Given the description of an element on the screen output the (x, y) to click on. 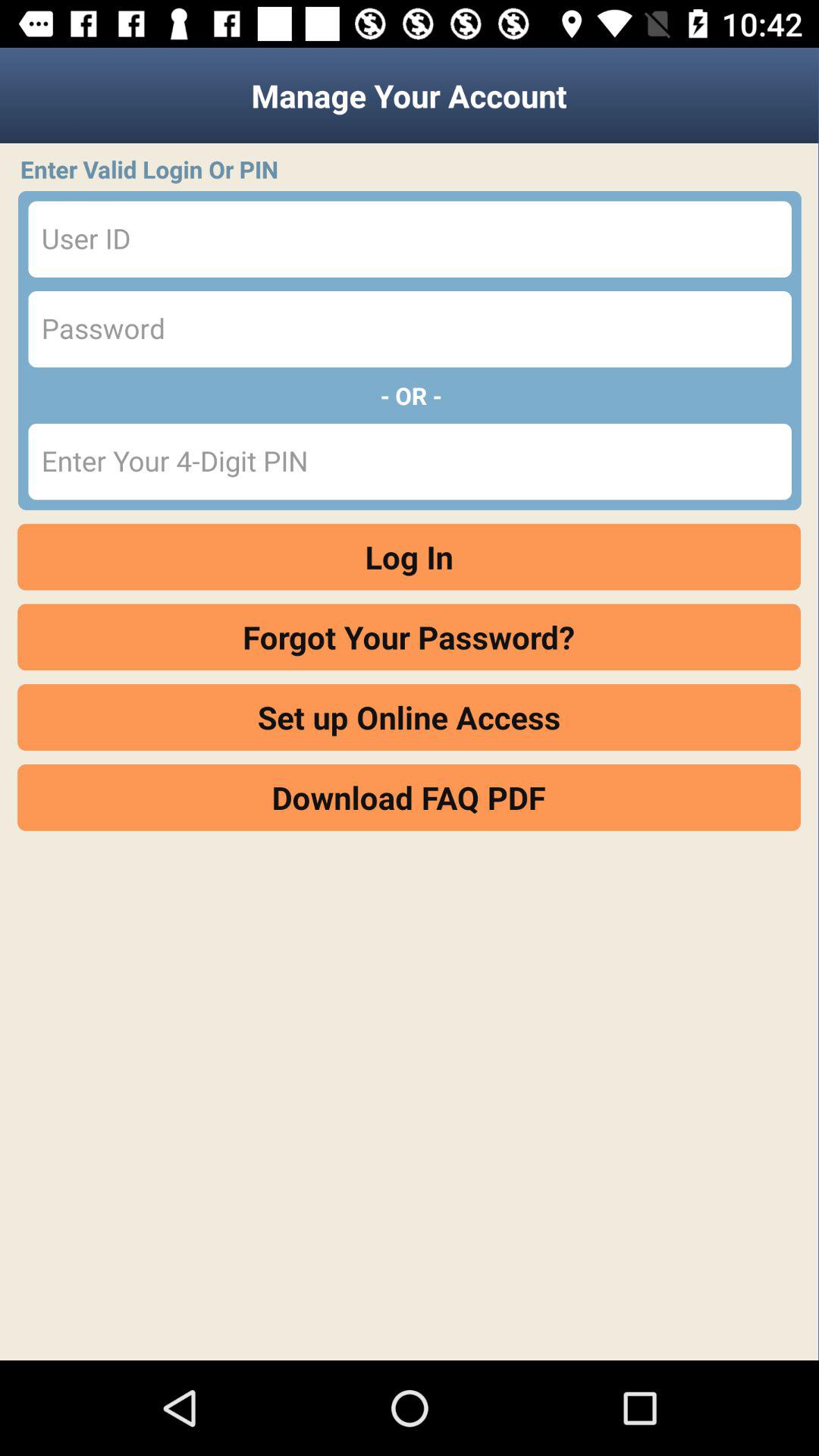
click forgot your password? icon (408, 637)
